Given the description of an element on the screen output the (x, y) to click on. 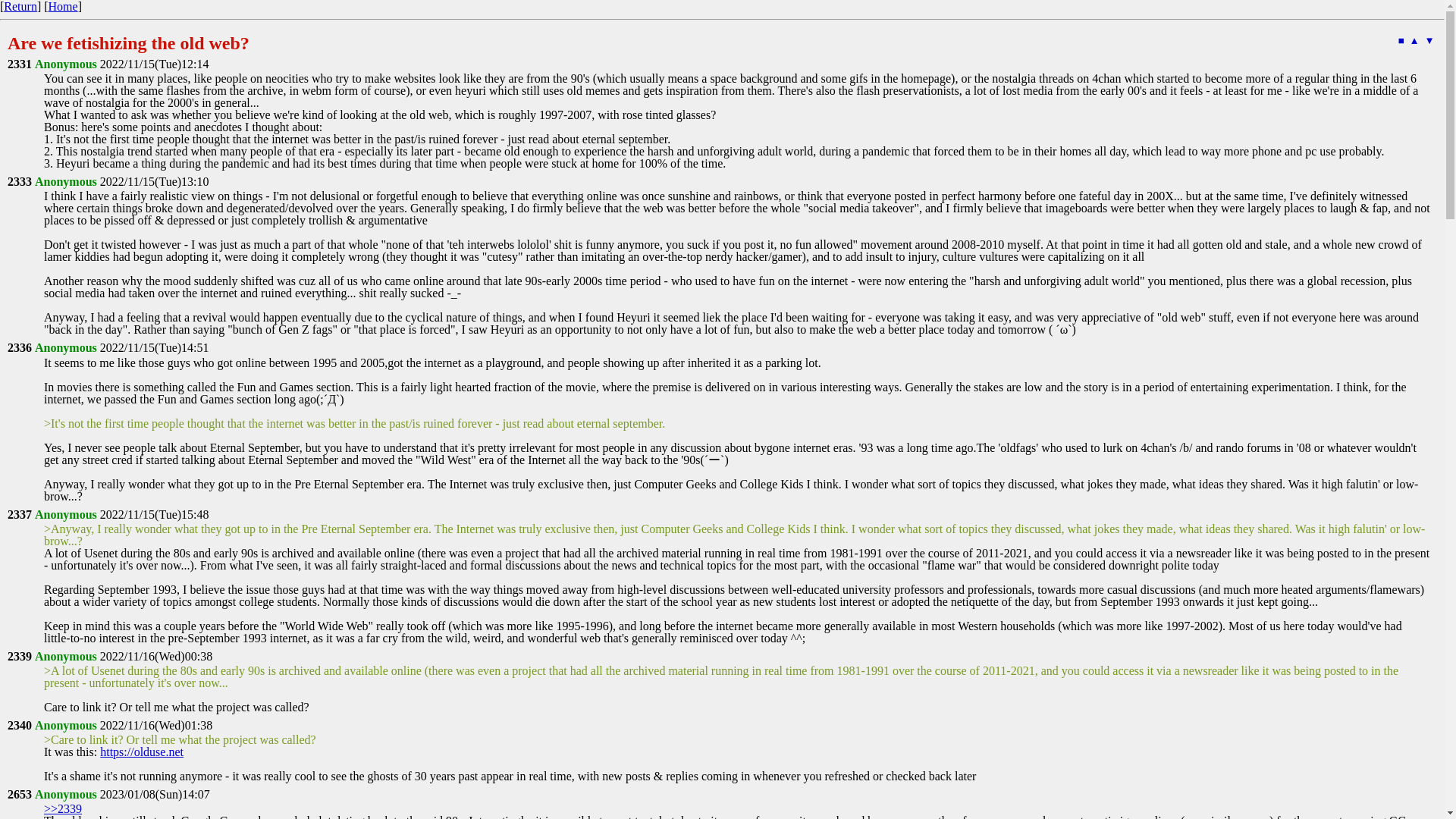
Quote (19, 793)
2340 (19, 725)
Quote (19, 63)
Return (20, 6)
Quote (19, 347)
2337 (19, 513)
Quote (19, 181)
Are we fetishizing the old web? (127, 43)
Quote (19, 513)
2336 (19, 347)
